Given the description of an element on the screen output the (x, y) to click on. 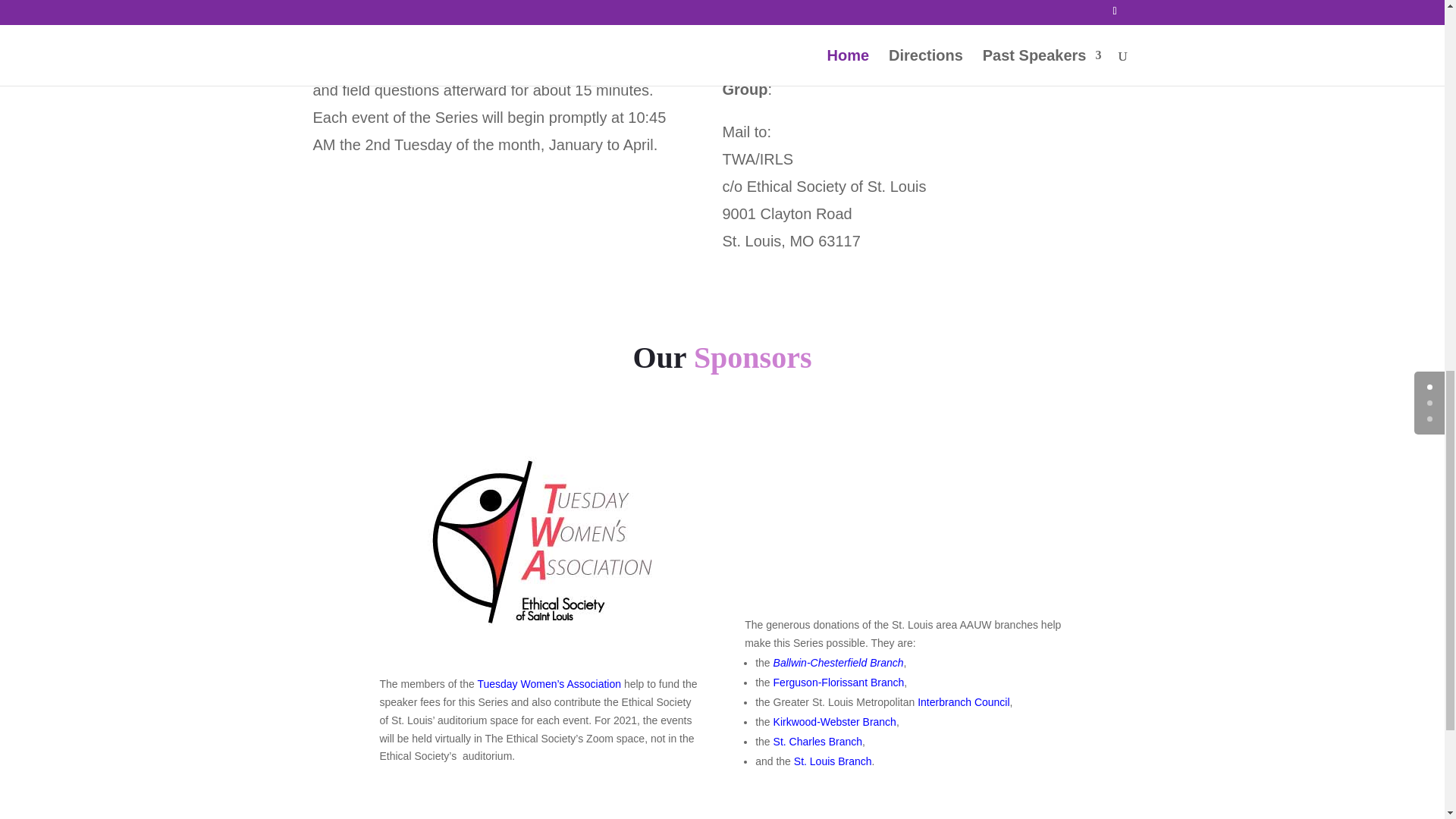
Interbranch Council (963, 702)
St. Louis Branch (832, 761)
Ballwin-Chesterfield Branch (838, 662)
Kirkwood-Webster Branch (834, 721)
Ferguson-Florissant Branch (838, 682)
St. Charles Branch (818, 741)
